Given the description of an element on the screen output the (x, y) to click on. 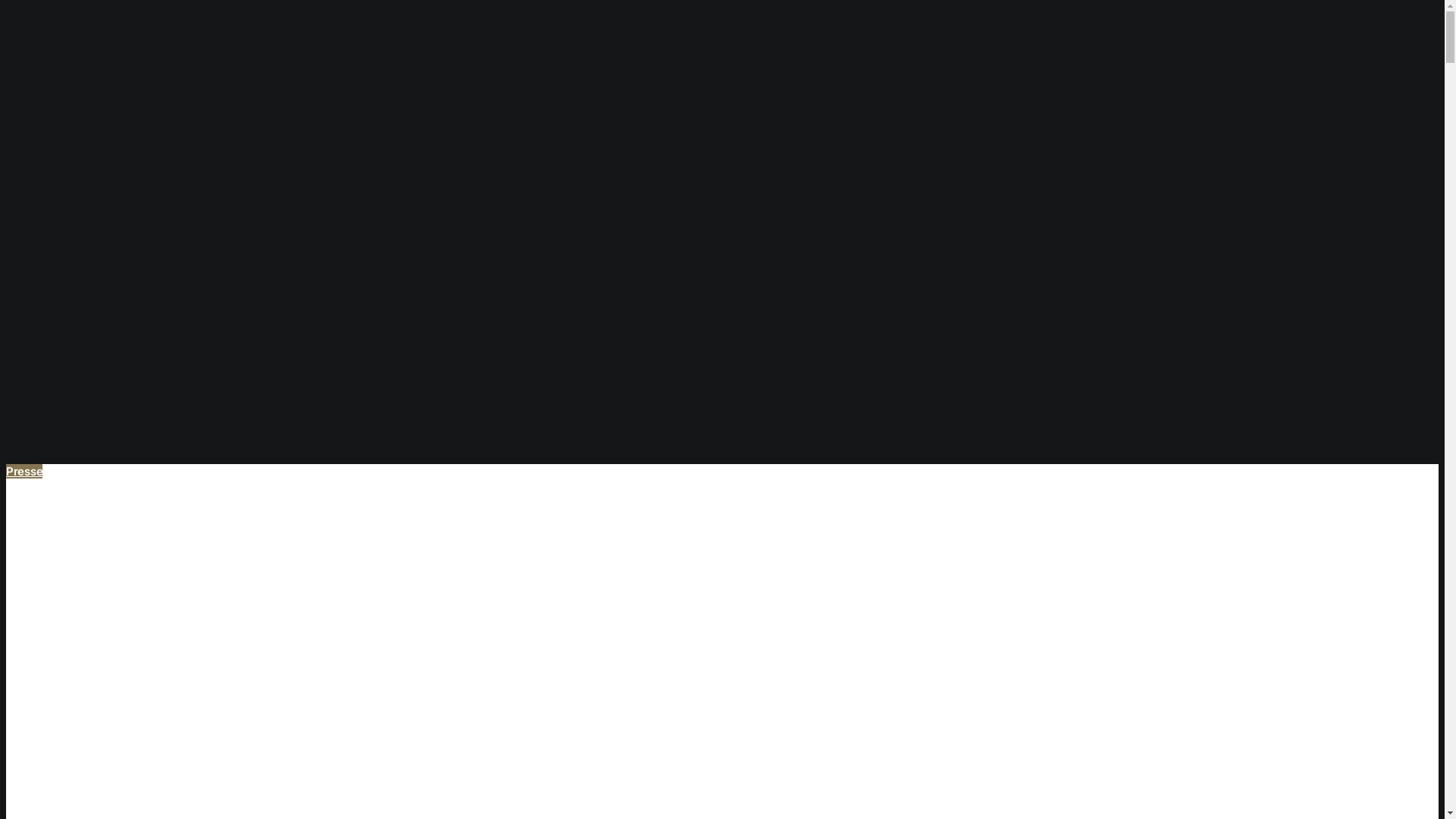
Presse Element type: text (24, 471)
